Given the description of an element on the screen output the (x, y) to click on. 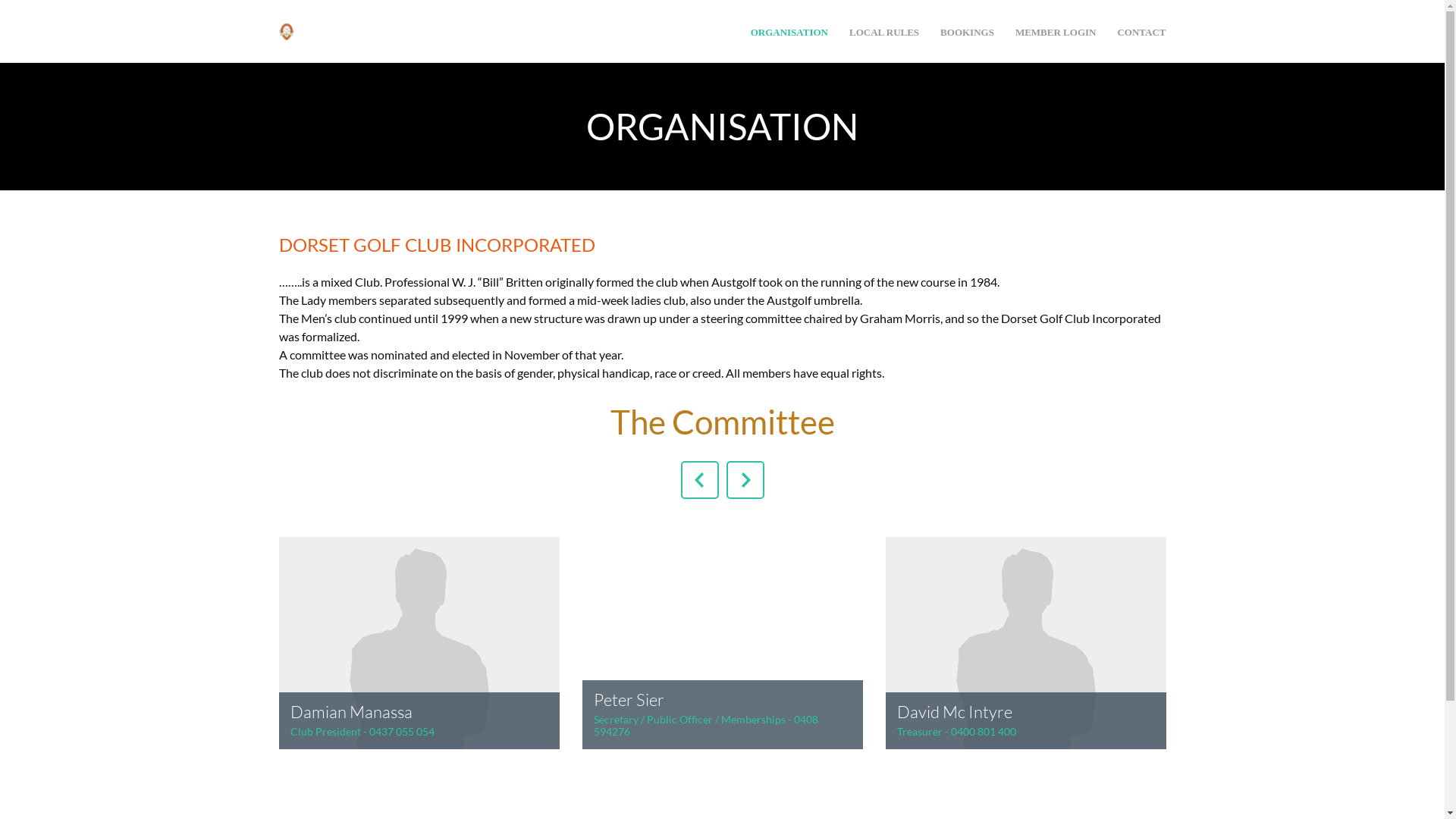
CONTACT Element type: text (1141, 31)
MEMBER LOGIN Element type: text (1055, 31)
BOOKINGS Element type: text (967, 31)
LOCAL RULES Element type: text (884, 31)
ORGANISATION Element type: text (789, 31)
